Given the description of an element on the screen output the (x, y) to click on. 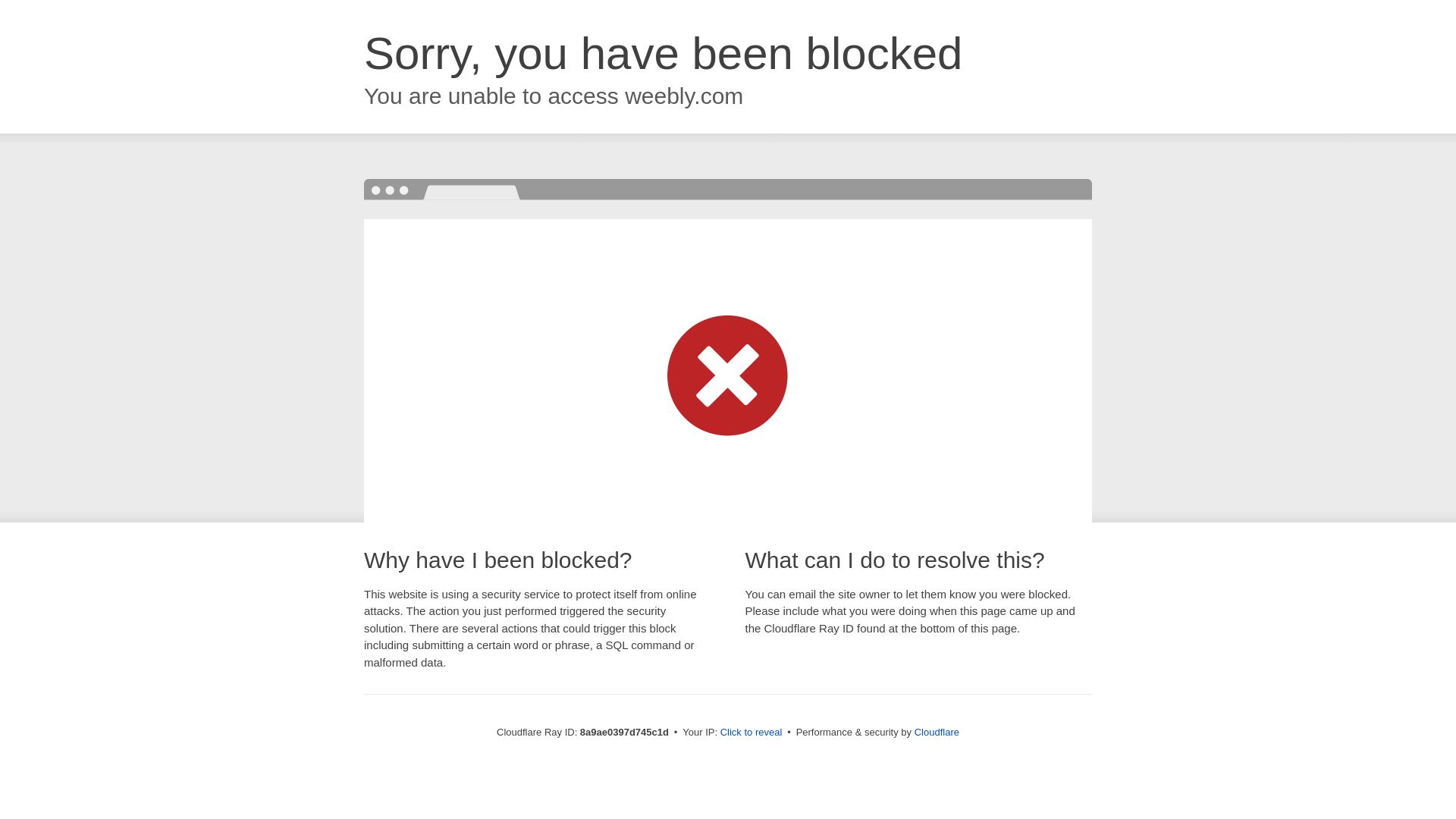
Click to reveal (751, 732)
Cloudflare (936, 731)
